Given the description of an element on the screen output the (x, y) to click on. 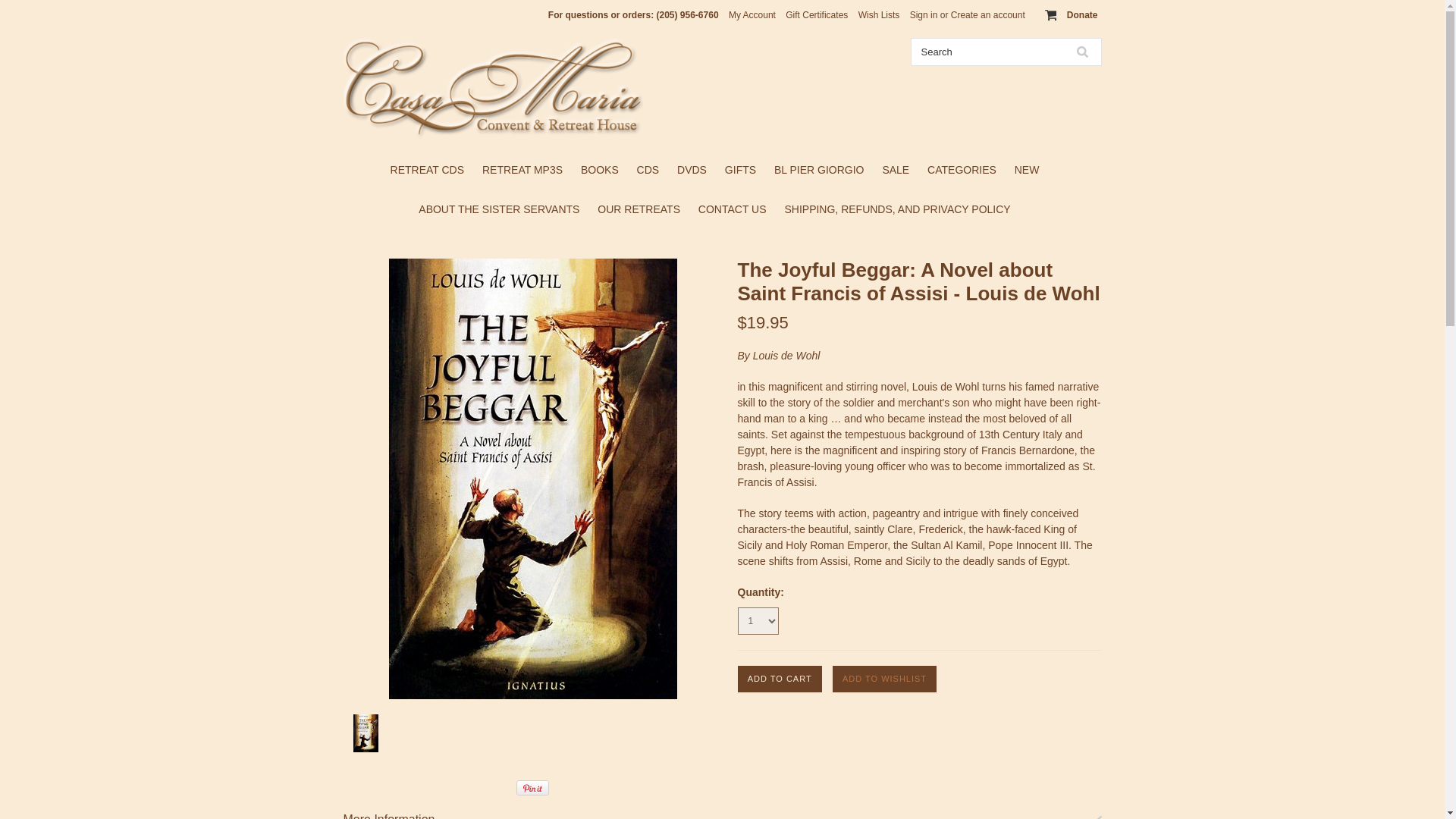
Add to Wishlist (884, 678)
Search (1081, 51)
Add To Cart (778, 678)
Search (986, 51)
Add to Wishlist (884, 678)
